Given the description of an element on the screen output the (x, y) to click on. 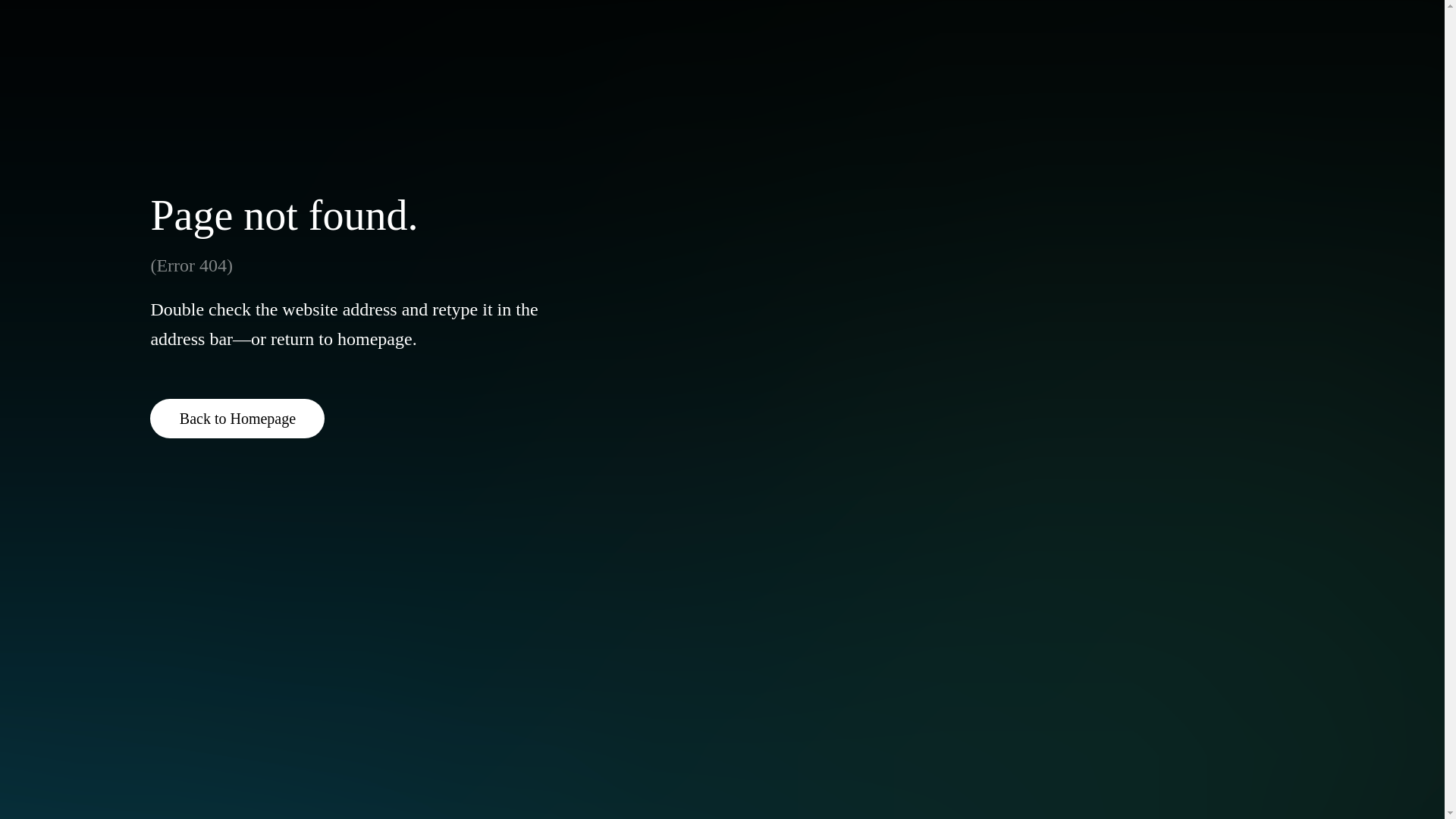
Back to Homepage (236, 418)
